Given the description of an element on the screen output the (x, y) to click on. 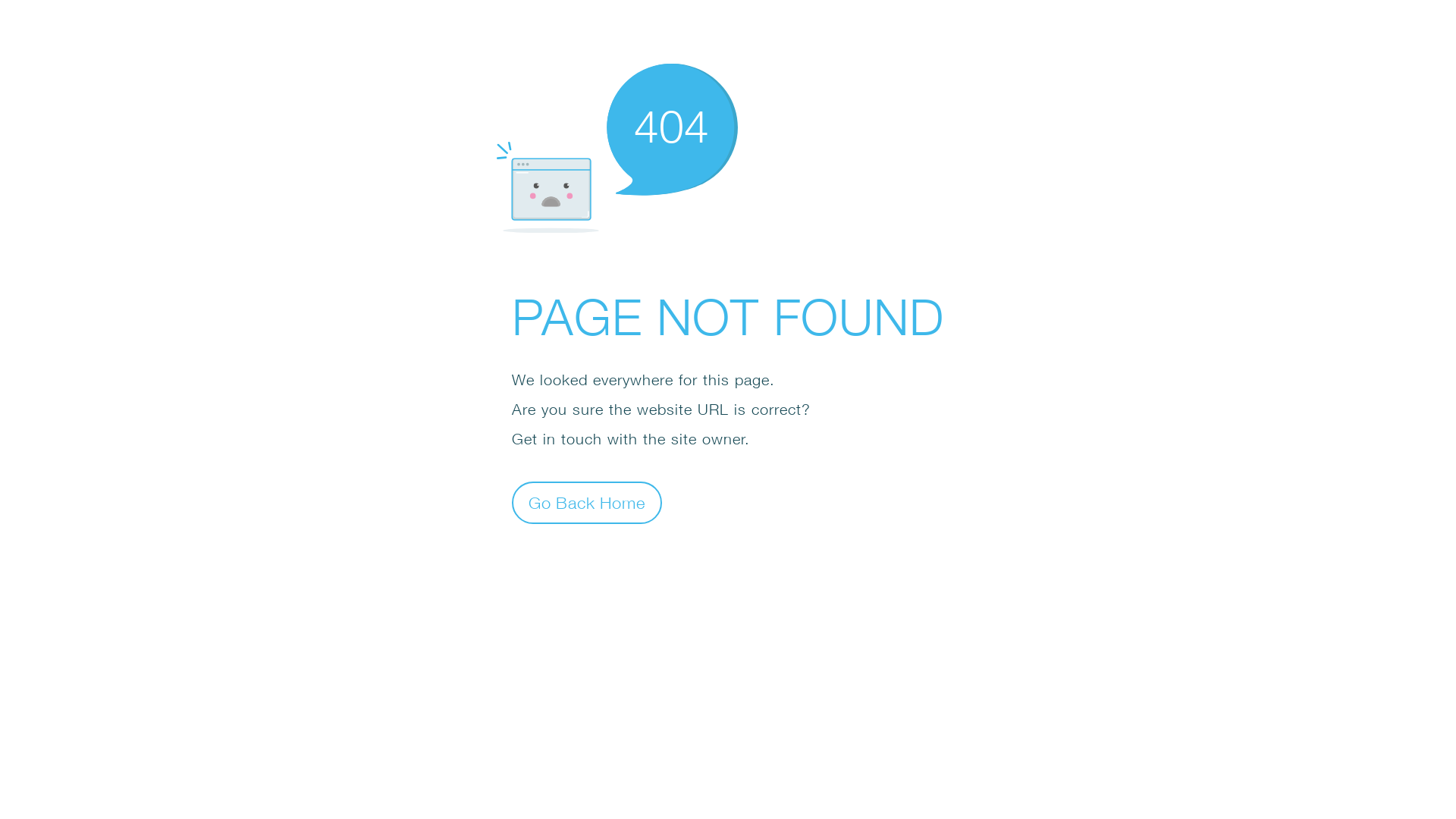
Go Back Home Element type: text (586, 502)
